Given the description of an element on the screen output the (x, y) to click on. 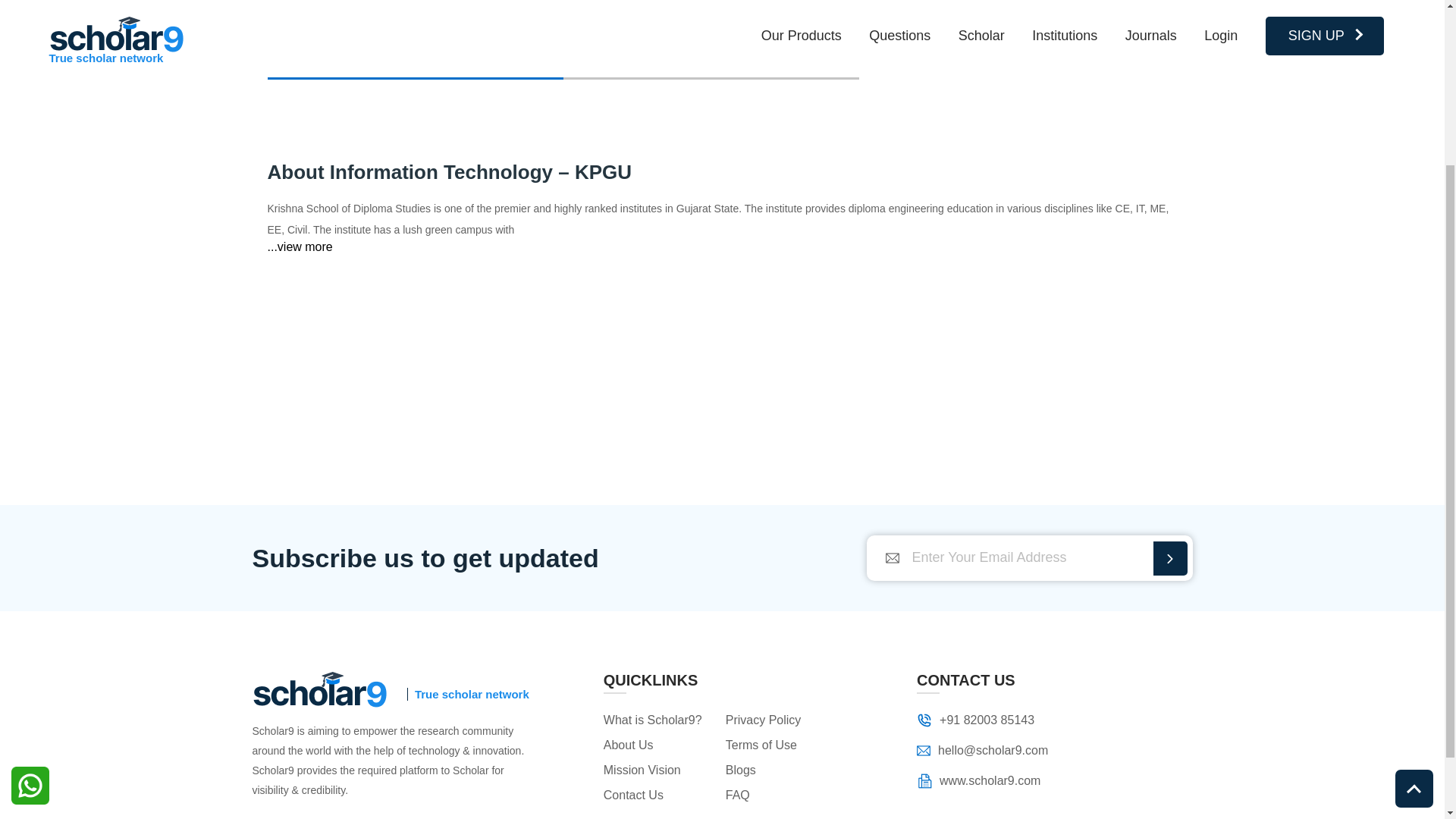
submit (1169, 558)
www.scholar9.com (982, 780)
Scholars (710, 56)
Publications (414, 56)
Logo (319, 689)
Logo (923, 749)
Blogs (778, 769)
Logo (924, 720)
logo (319, 690)
Contact Us (657, 794)
